Given the description of an element on the screen output the (x, y) to click on. 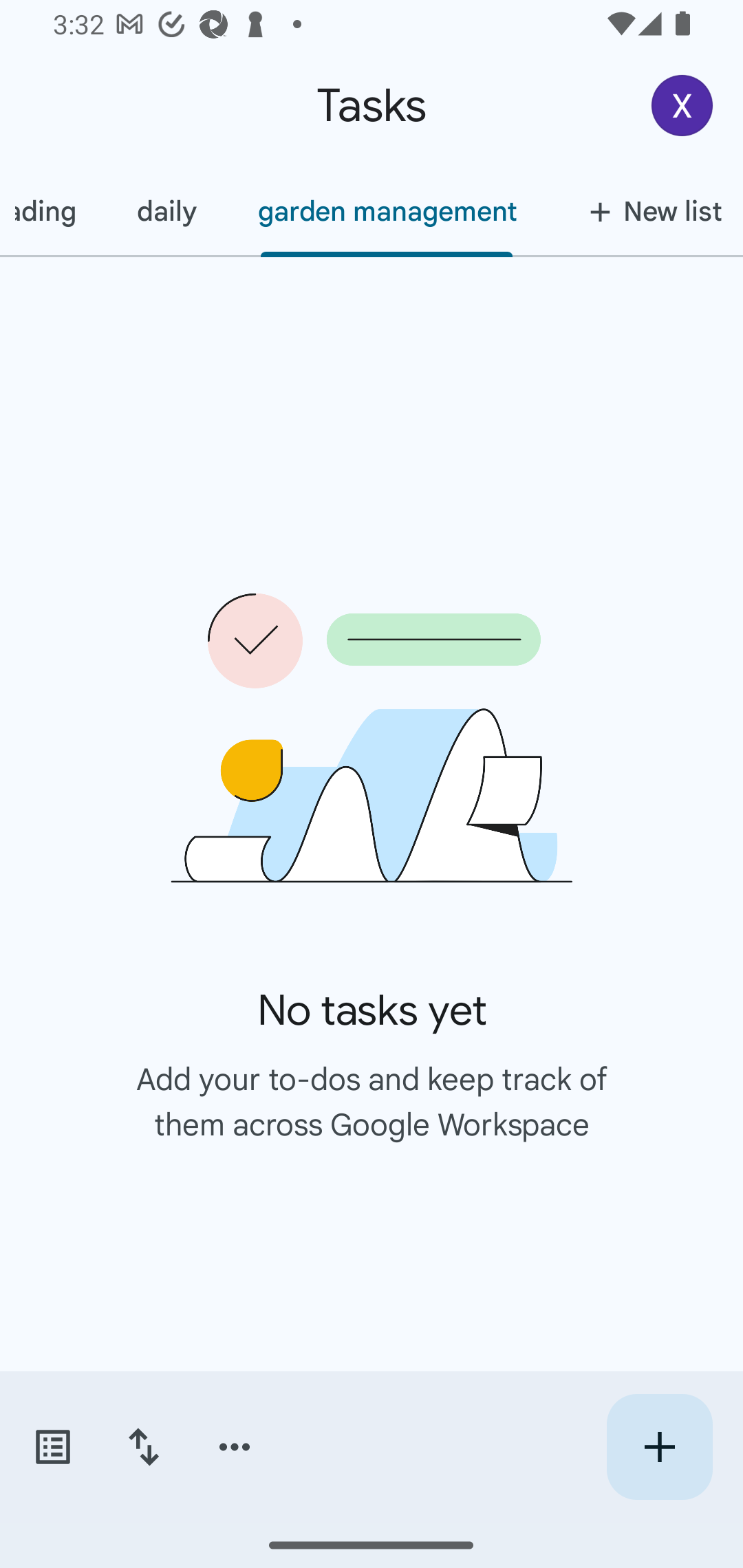
daily (166, 211)
New list (644, 211)
Switch task lists (52, 1447)
Create new task (659, 1446)
Change sort order (143, 1446)
More options (234, 1446)
